Given the description of an element on the screen output the (x, y) to click on. 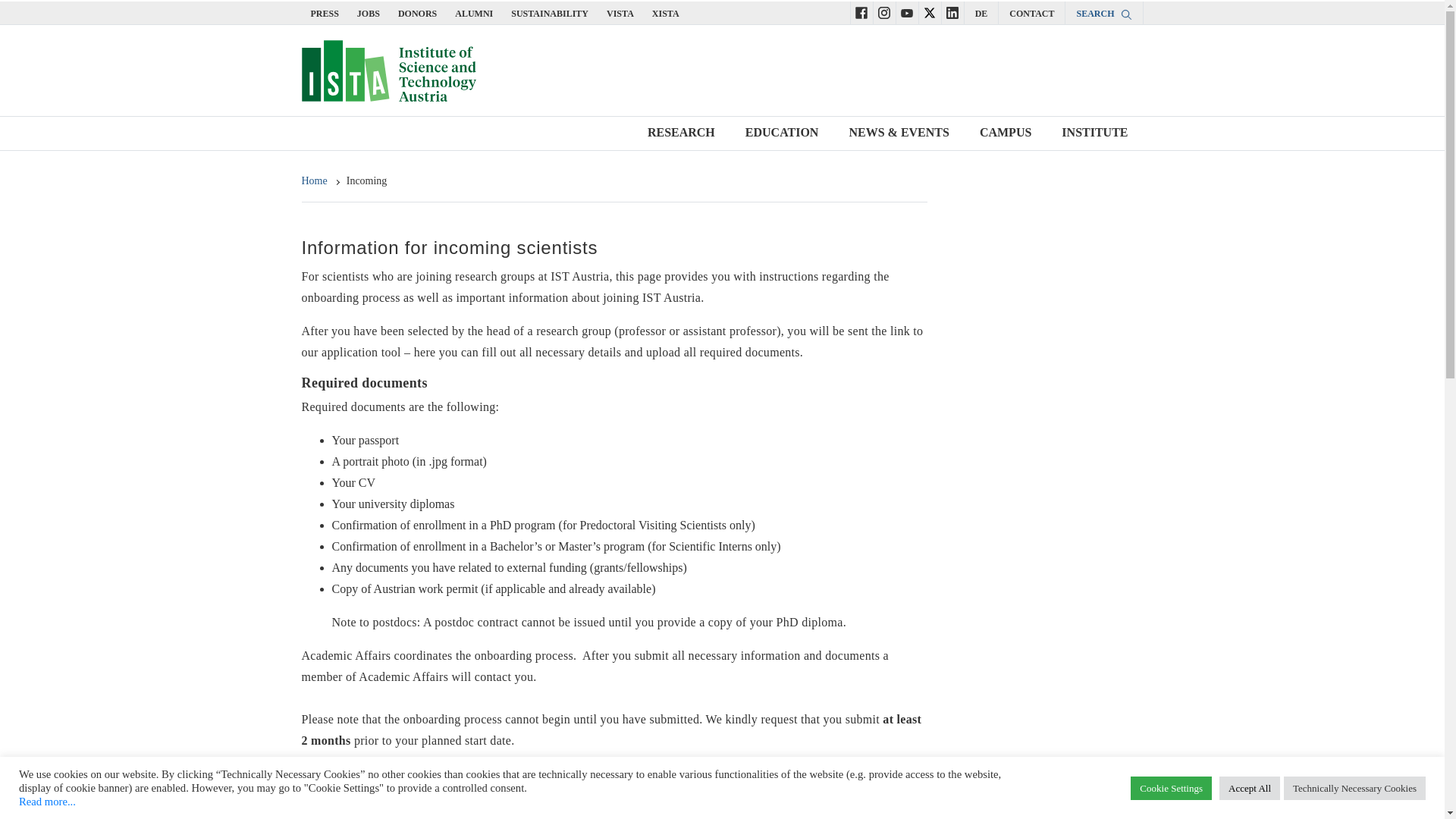
DE (981, 13)
CONTACT (1031, 13)
VISTA (620, 13)
SUSTAINABILITY (549, 13)
DONORS (416, 13)
Navigate to ISTA Twitter account (929, 12)
Navigate to ISTA LinkedIn account (952, 12)
Navigate to ISTA Facebook account (861, 12)
Navigate to ISTA YouTube account (906, 12)
JOBS (368, 13)
PRESS (325, 13)
SEARCH (1103, 13)
Navigate to ISTA Instagram account (883, 12)
ALUMNI (473, 13)
XISTA (665, 13)
